Given the description of an element on the screen output the (x, y) to click on. 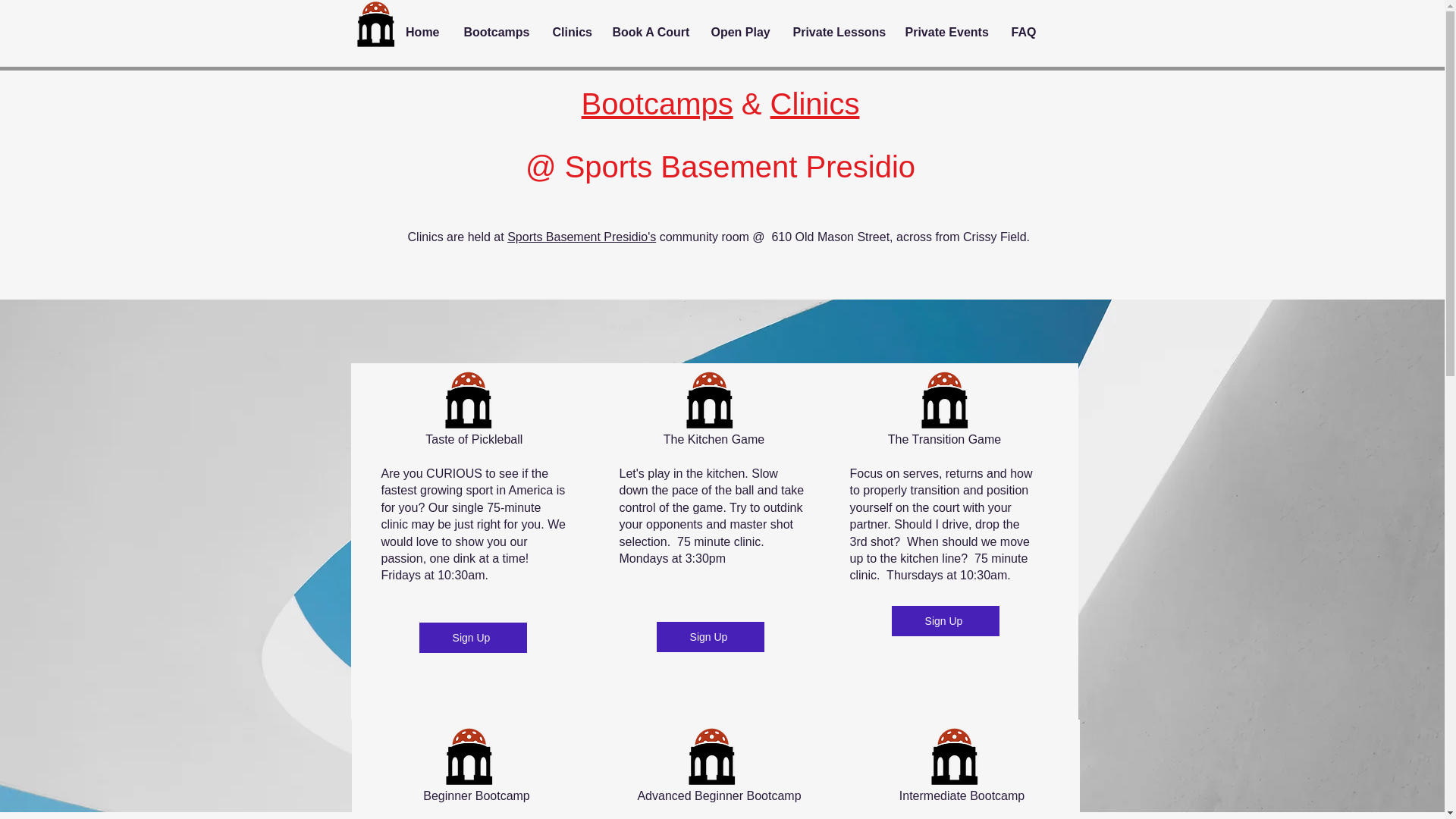
Bootcamps (494, 31)
Book A Court (648, 31)
ball.jpeg (943, 400)
ball.jpeg (954, 756)
Clinics (571, 31)
ball.jpeg (468, 756)
ball.jpeg (466, 400)
Private Events (945, 31)
Sign Up (710, 636)
Bootcamps (656, 103)
